Given the description of an element on the screen output the (x, y) to click on. 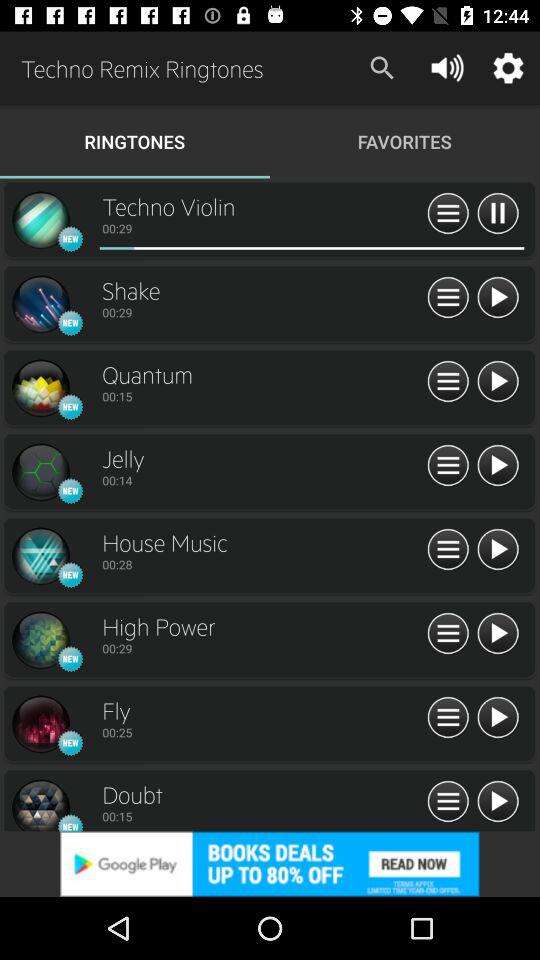
play ringtone (497, 465)
